Given the description of an element on the screen output the (x, y) to click on. 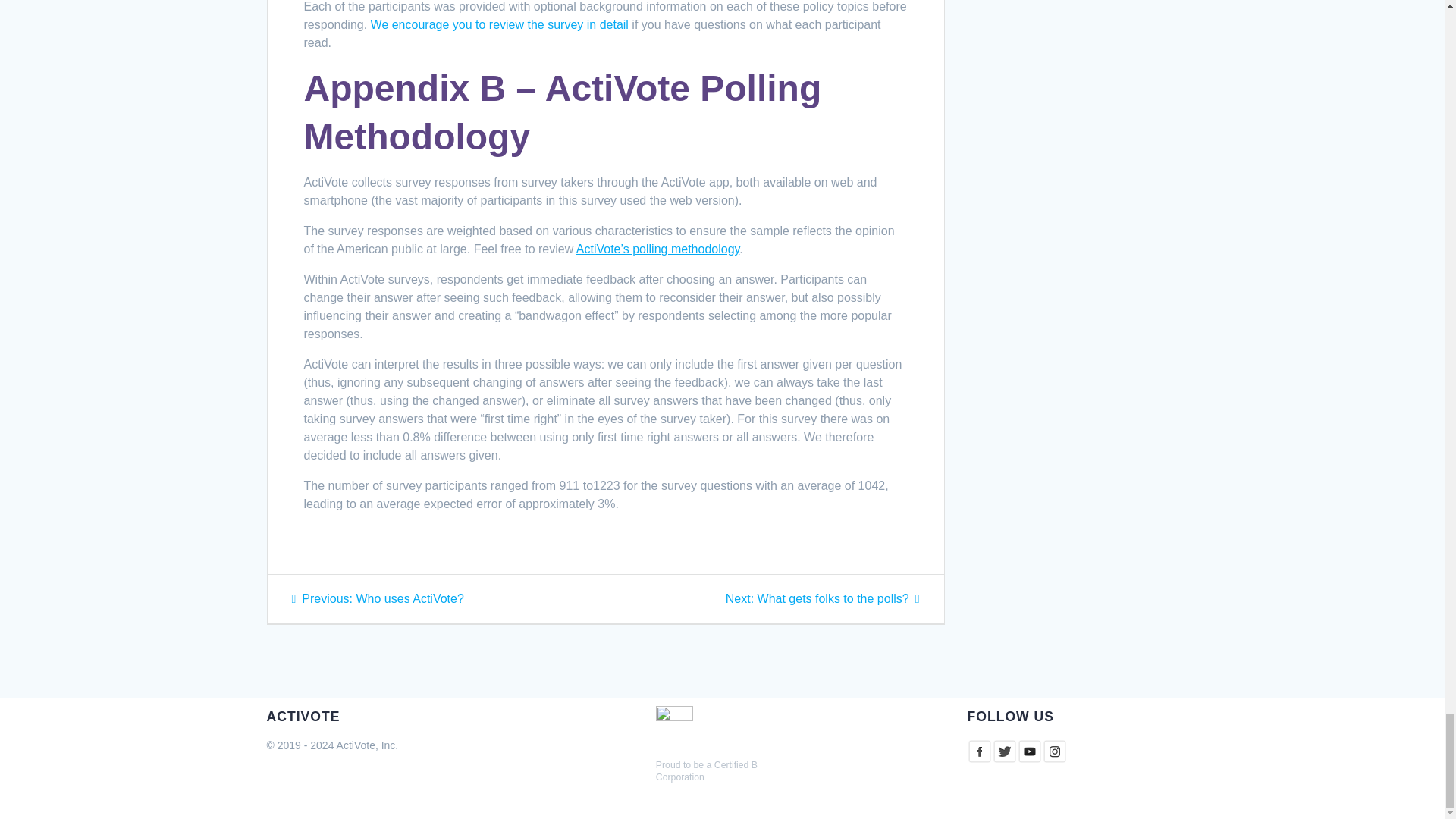
Visit Us On Youtube (1029, 759)
We encourage you to review the survey in detail (822, 598)
Visit Us On Twitter (499, 24)
Visit Us On Facebook (1003, 759)
Visit Us On Instagram (978, 759)
